Given the description of an element on the screen output the (x, y) to click on. 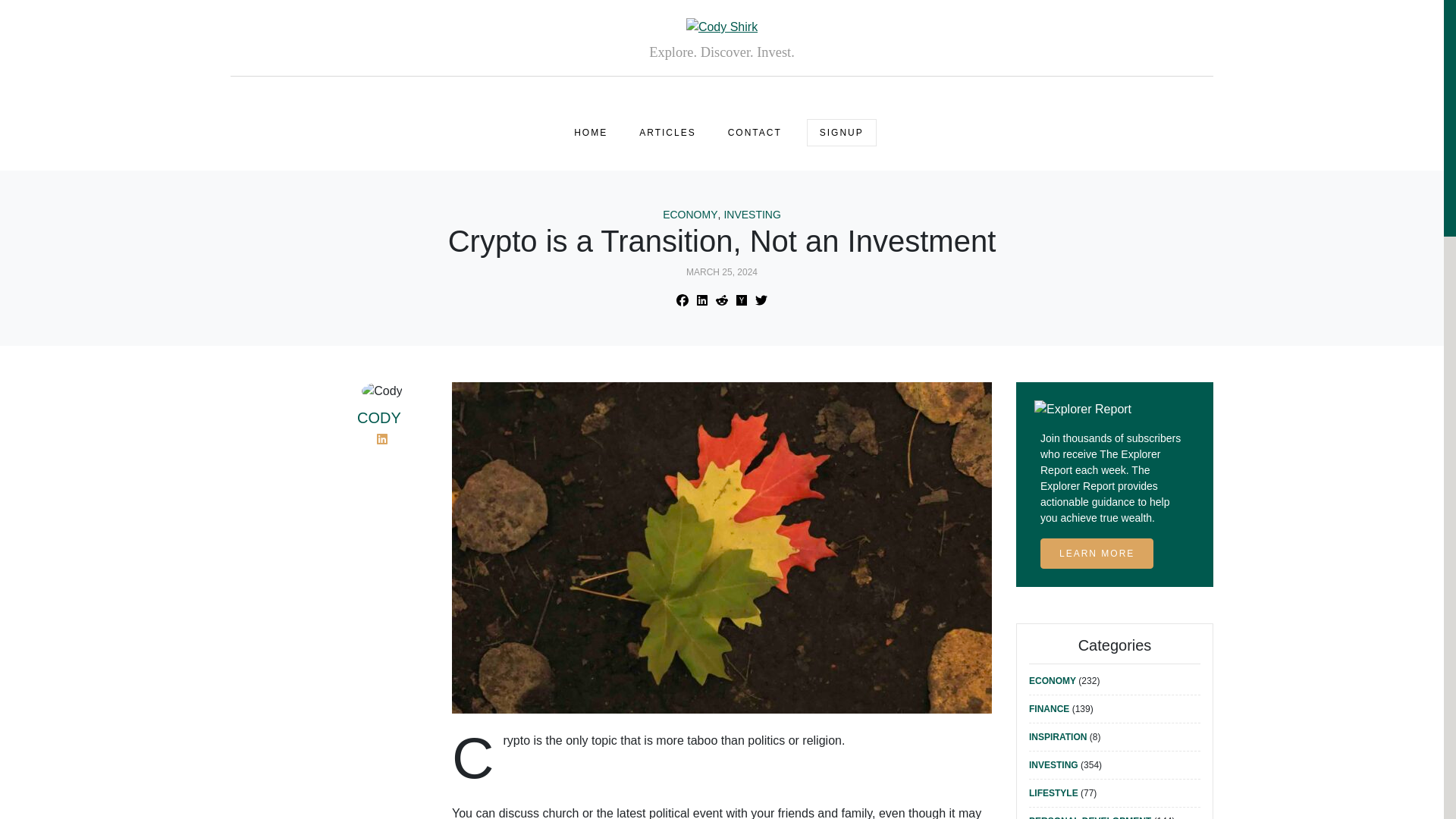
FINANCE (1048, 708)
ARTICLES (666, 132)
INVESTING (1053, 765)
HOME (590, 132)
SIGNUP (841, 132)
INVESTING (751, 214)
LEARN MORE (1097, 553)
ECONOMY (689, 214)
INSPIRATION (1057, 737)
PERSONAL DEVELOPMENT (1090, 817)
CONTACT (754, 132)
LIFESTYLE (1053, 792)
ECONOMY (1052, 680)
